Given the description of an element on the screen output the (x, y) to click on. 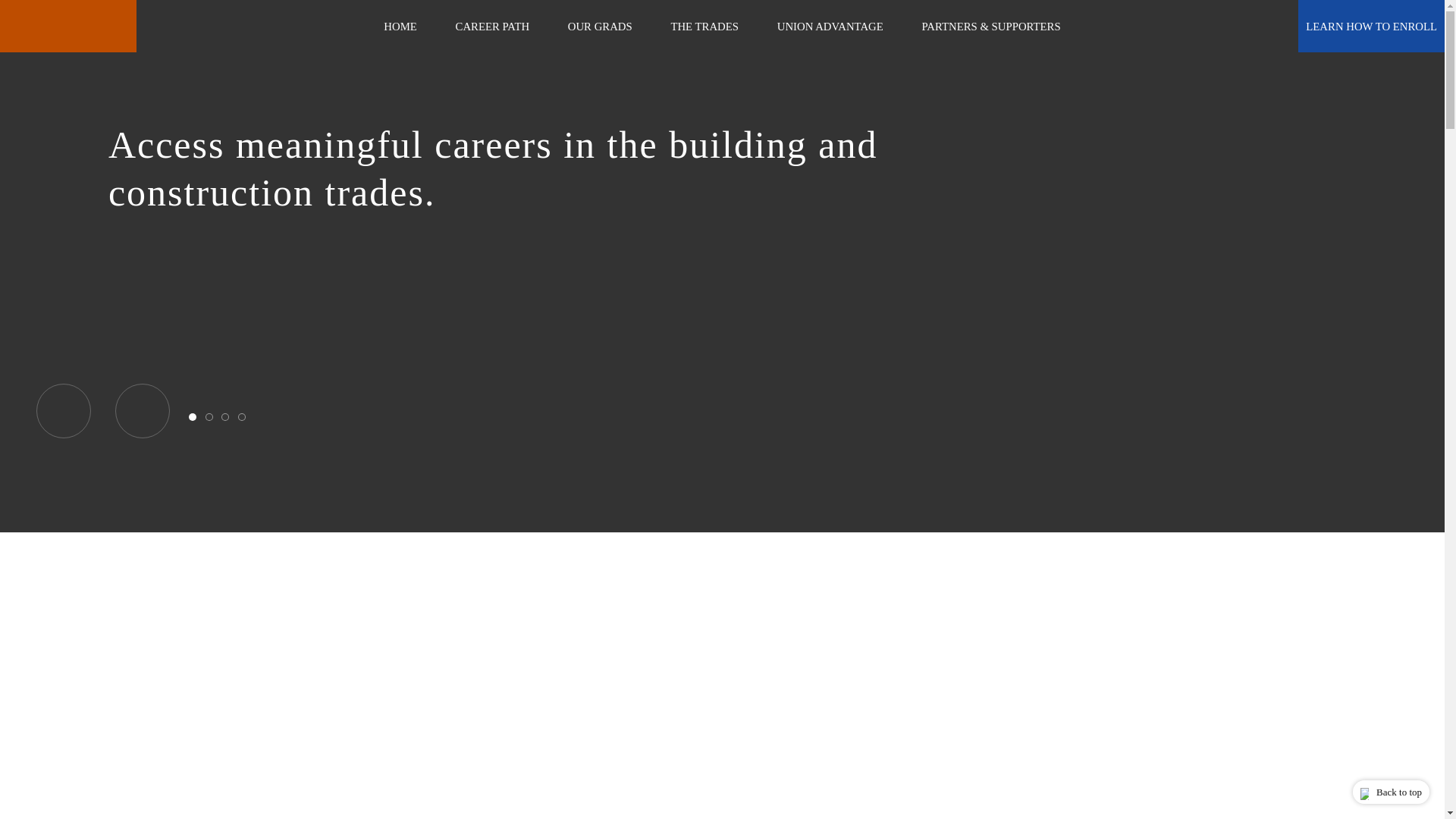
OUR GRADS (600, 26)
CAREER PATH (493, 26)
THE TRADES (704, 26)
UNION ADVANTAGE (829, 26)
HOME (399, 26)
